Given the description of an element on the screen output the (x, y) to click on. 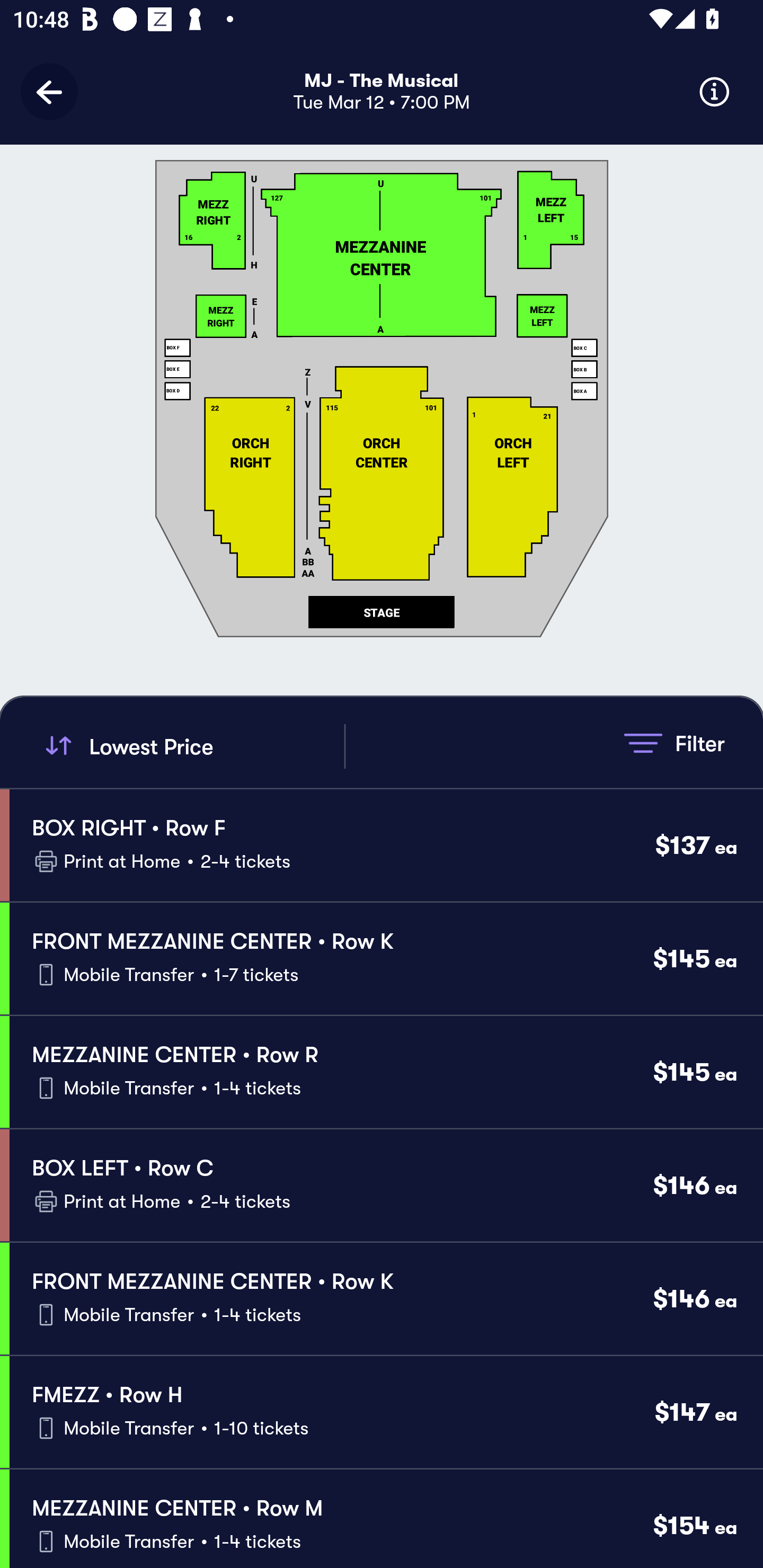
Lowest Price (191, 746)
Filter (674, 743)
